Given the description of an element on the screen output the (x, y) to click on. 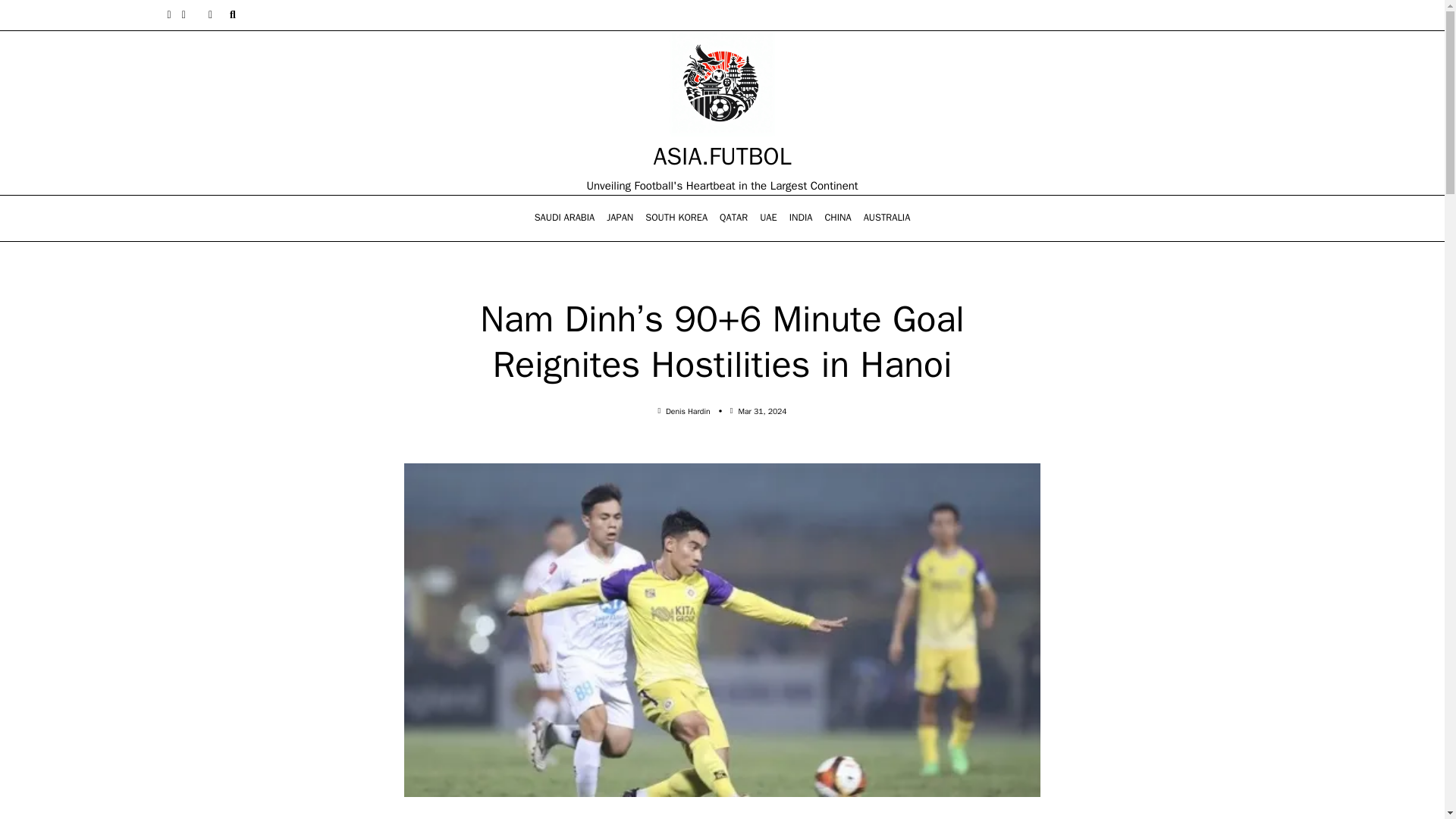
AUSTRALIA (887, 218)
QATAR (733, 218)
CHINA (837, 218)
ASIA.FUTBOL (721, 155)
SAUDI ARABIA (564, 218)
INDIA (800, 218)
SOUTH KOREA (676, 218)
JAPAN (619, 218)
UAE (768, 218)
